Given the description of an element on the screen output the (x, y) to click on. 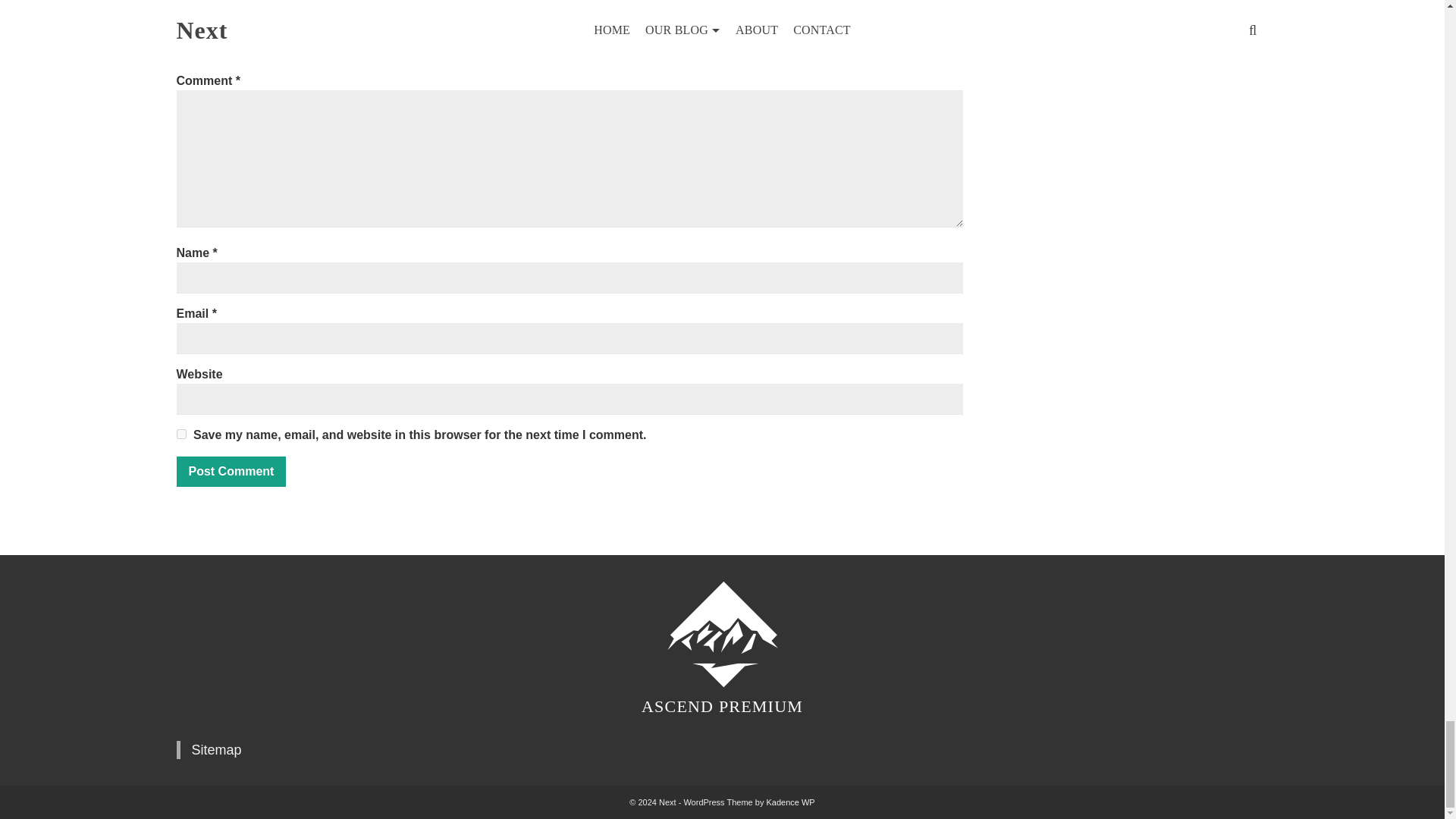
yes (181, 433)
Post Comment (230, 471)
